Given the description of an element on the screen output the (x, y) to click on. 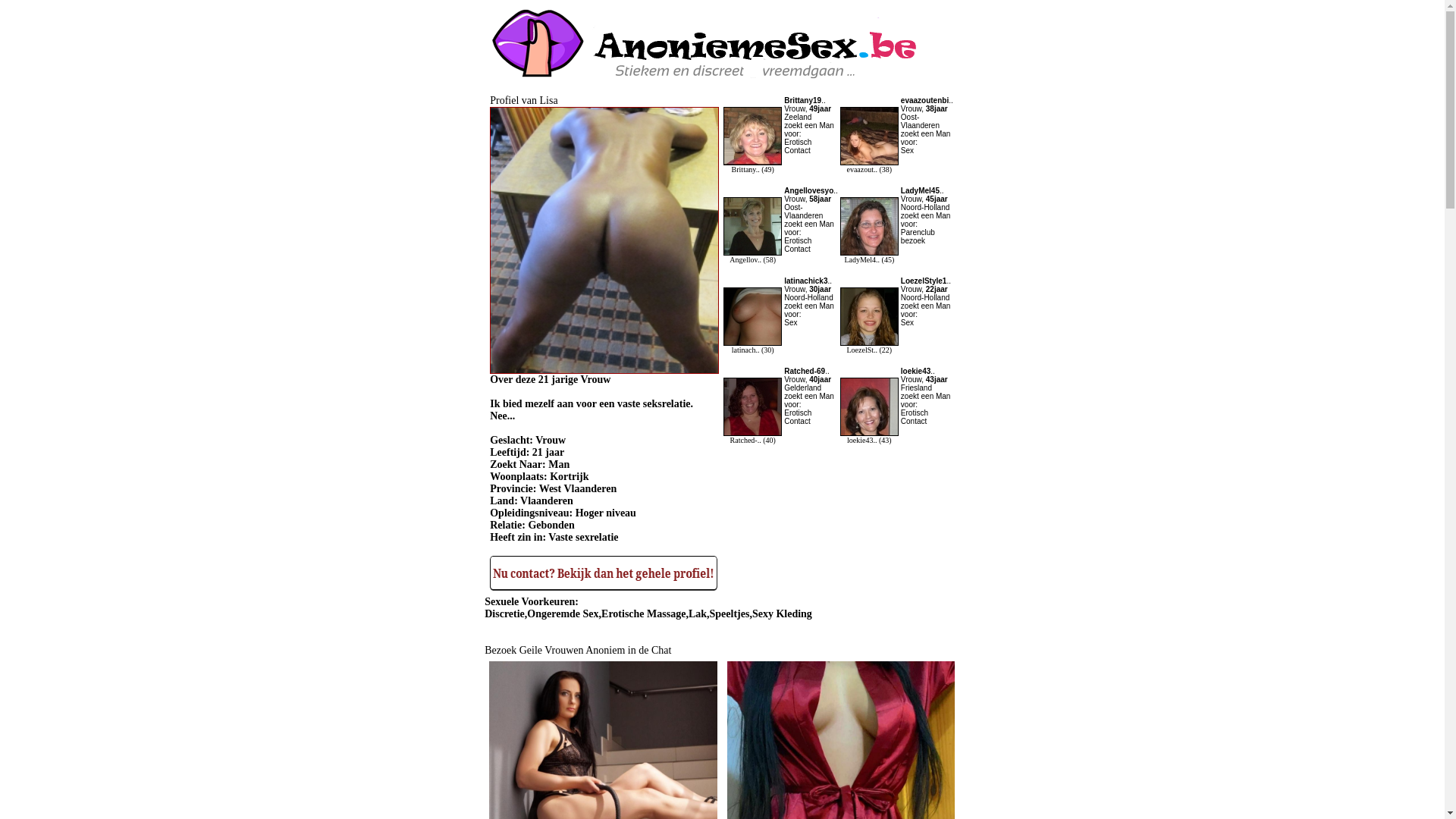
LadyMel4.. (45) Element type: text (869, 255)
loekie43.. (43) Element type: text (869, 435)
LoezelSt.. (22) Element type: text (869, 345)
Vrouw, 21 jaar zoekt Man in Kortrijk Element type: hover (603, 370)
Brittany.. (49) Element type: text (752, 165)
Nu Contact met Lisa Element type: hover (603, 587)
Ratched-.. (40) Element type: text (752, 435)
latinach.. (30) Element type: text (752, 345)
evaazout.. (38) Element type: text (869, 165)
Angellov.. (58) Element type: text (752, 255)
